Given the description of an element on the screen output the (x, y) to click on. 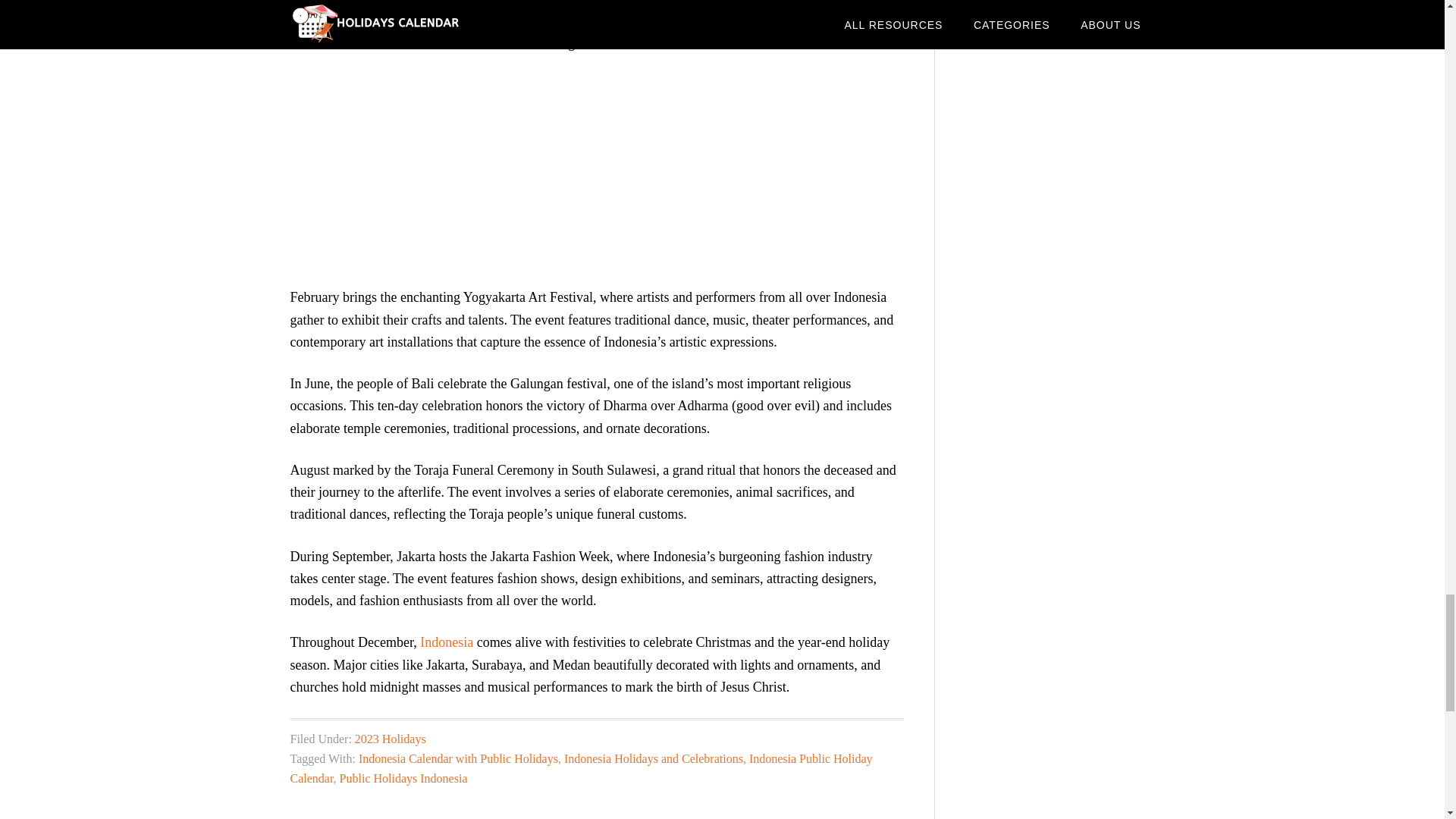
Indonesia Public Holiday Calendar (580, 768)
Public Holidays Indonesia (403, 778)
2023 Holidays (390, 738)
Indonesia (446, 642)
Indonesia Holidays and Celebrations (653, 758)
Indonesia Calendar with Public Holidays (457, 758)
